Given the description of an element on the screen output the (x, y) to click on. 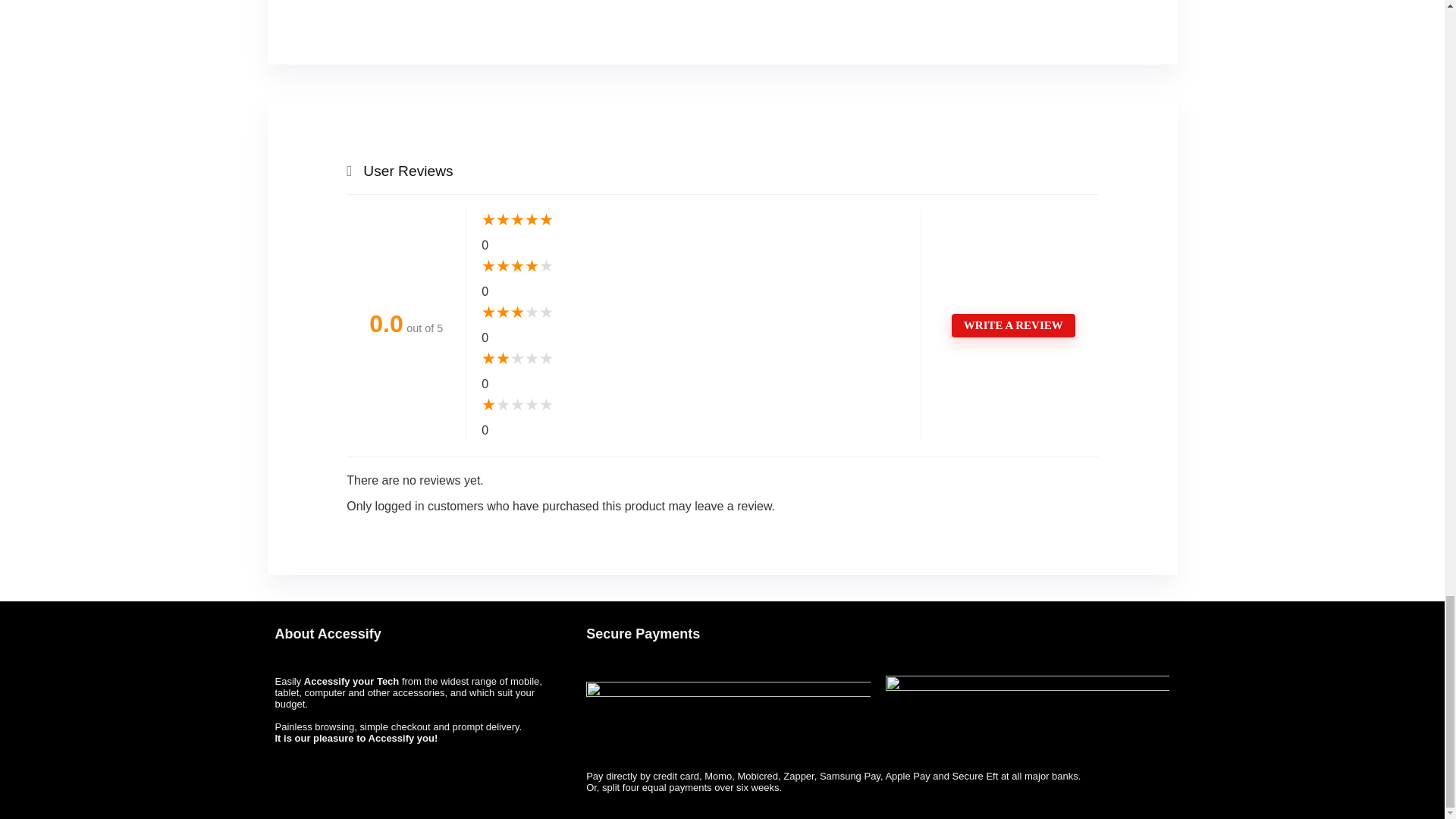
Rated 3 out of 5 (693, 312)
Rated 1 out of 5 (693, 405)
Rated 2 out of 5 (693, 359)
WRITE A REVIEW (1013, 325)
Rated 4 out of 5 (693, 266)
Rated 5 out of 5 (693, 219)
